Given the description of an element on the screen output the (x, y) to click on. 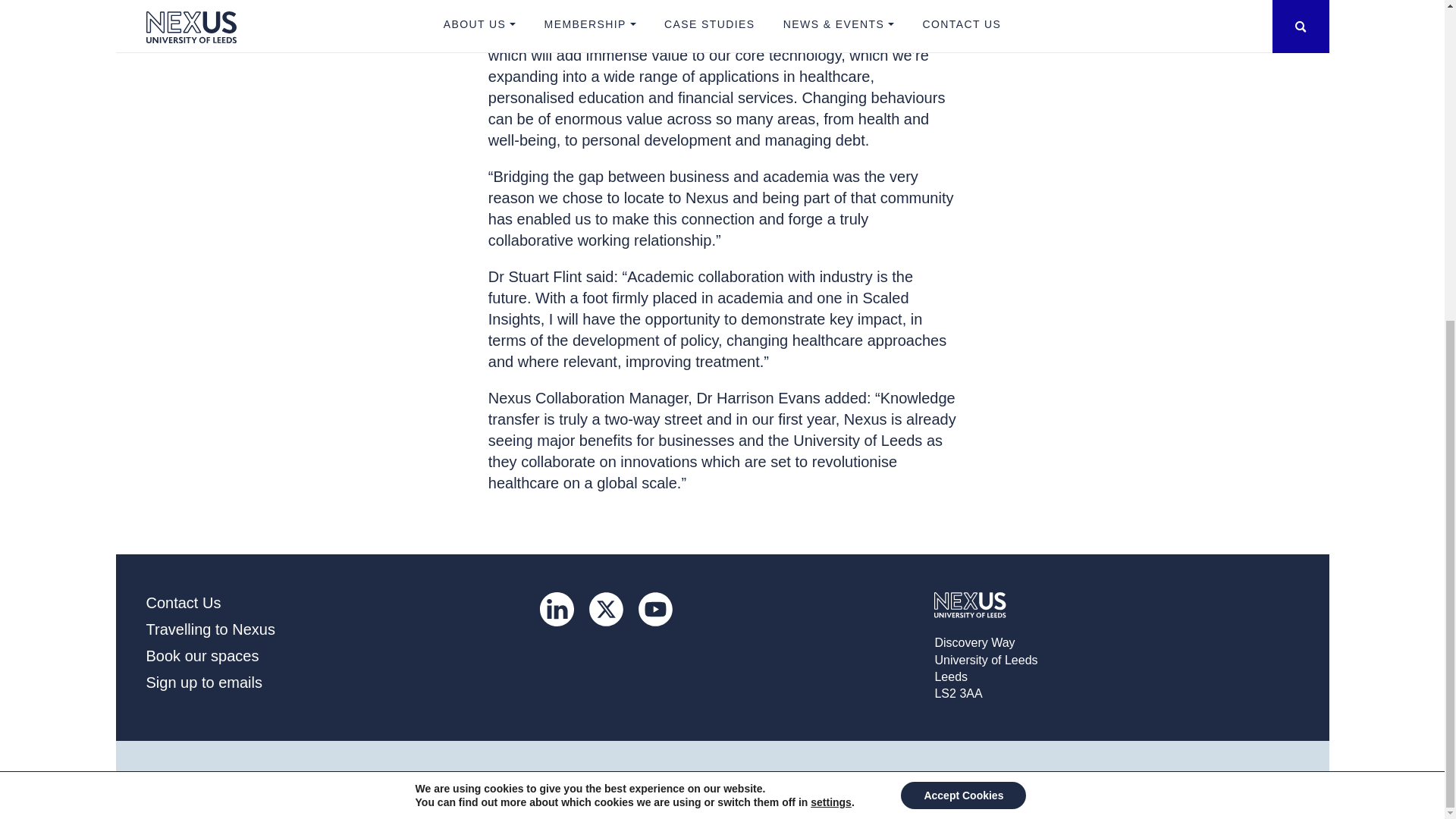
Contact Us (183, 602)
Membership (551, 779)
Accept Cookies (963, 275)
settings (830, 282)
Filming and Photography guidelines (409, 779)
Sign up to emails (203, 682)
Accessibility (178, 779)
YouTube (655, 609)
Privacy Policy (261, 779)
Travelling to Nexus (210, 629)
LinkedIn (556, 609)
Book our spaces (202, 655)
